Given the description of an element on the screen output the (x, y) to click on. 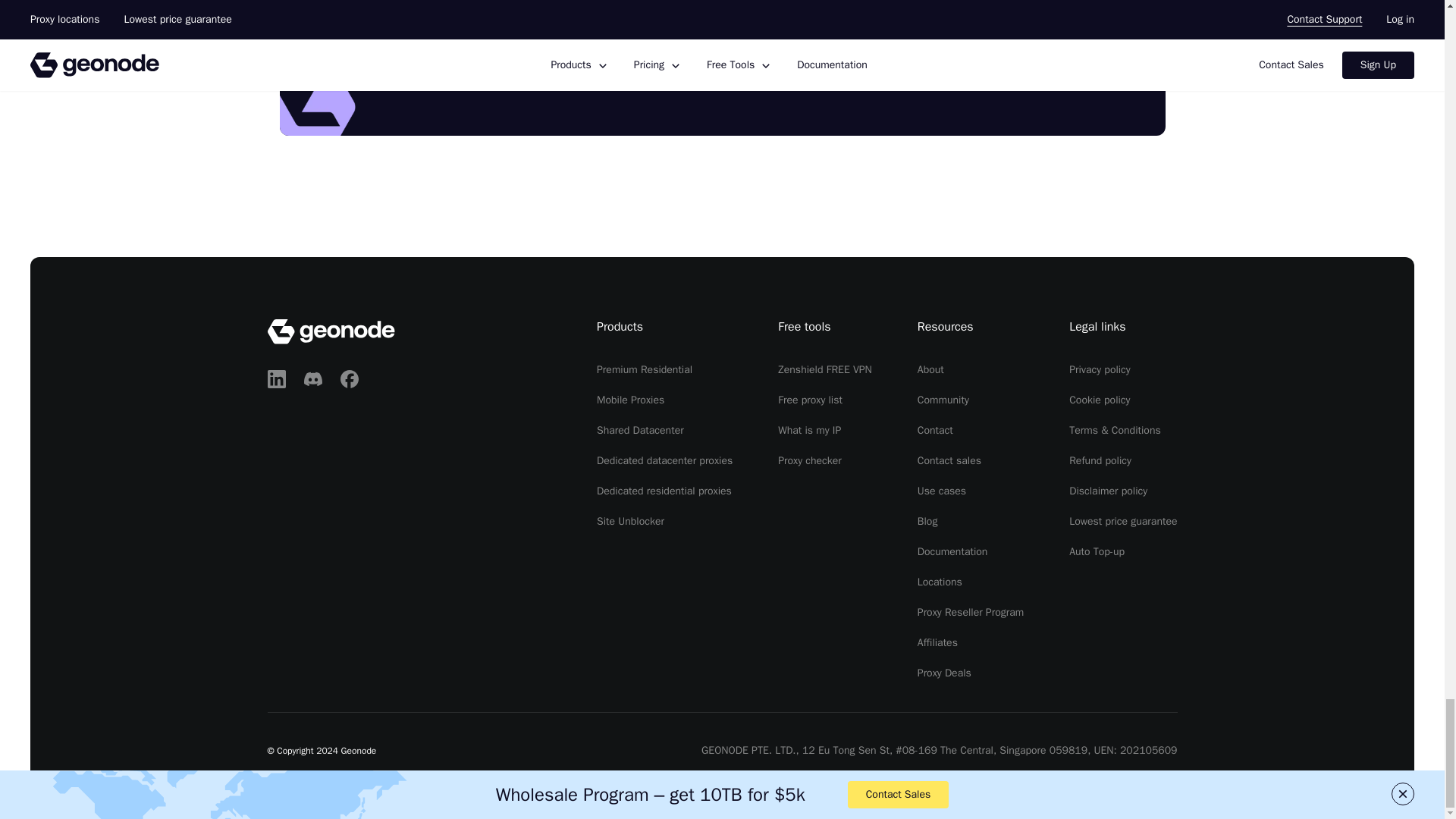
Dedicated datacenter proxies (664, 460)
Premium Residential (644, 369)
Dedicated residential proxies (664, 490)
Sign Up (803, 72)
Buy Now! (640, 72)
Shared Datacenter (640, 430)
Mobile Proxies (629, 399)
